Given the description of an element on the screen output the (x, y) to click on. 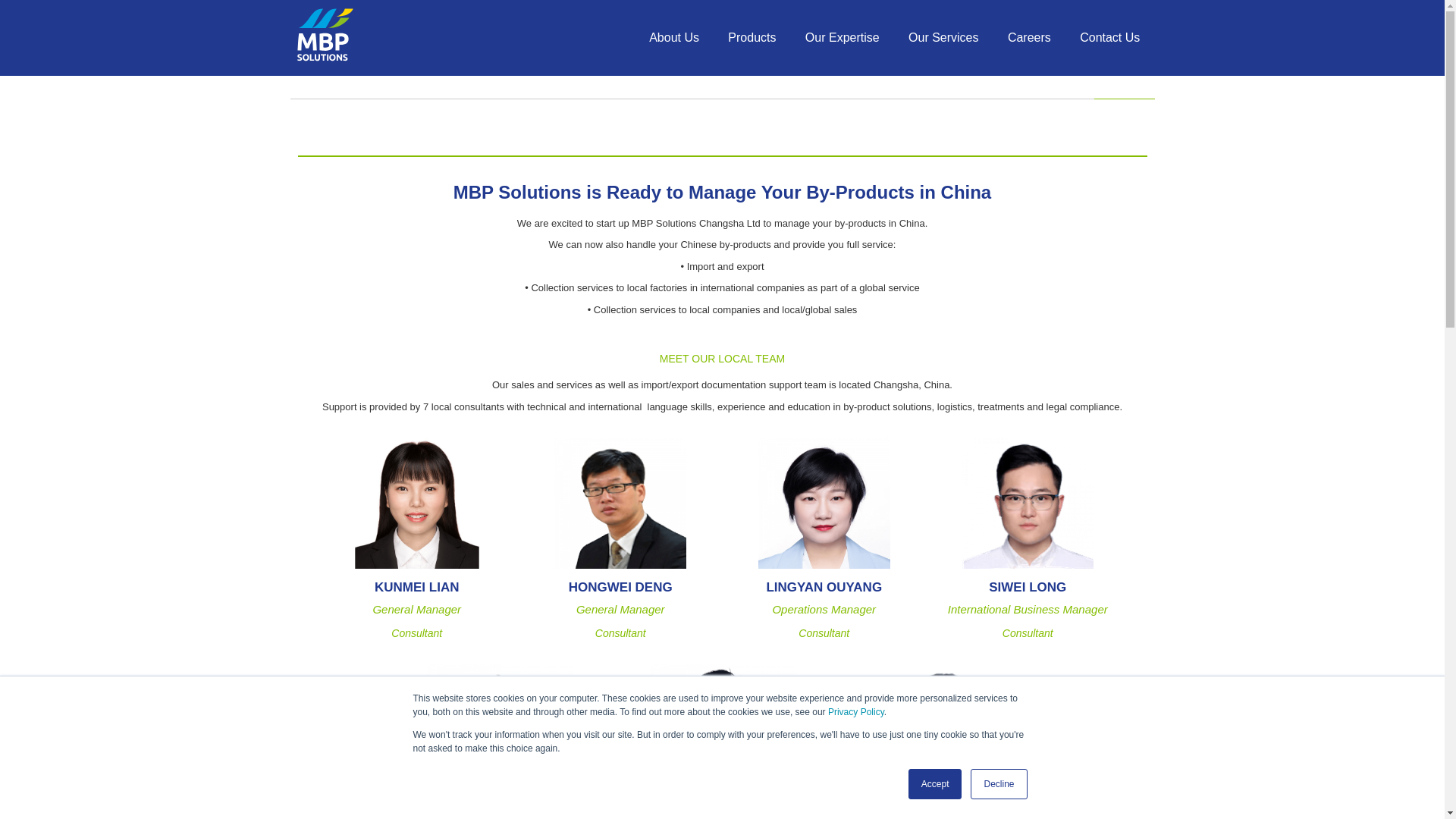
Accept (935, 784)
Our Services (942, 38)
Privacy Policy (855, 711)
Contact Us (1109, 38)
Our Expertise (841, 38)
About Us (673, 38)
Careers (1028, 38)
Products (751, 38)
Decline (998, 784)
